Given the description of an element on the screen output the (x, y) to click on. 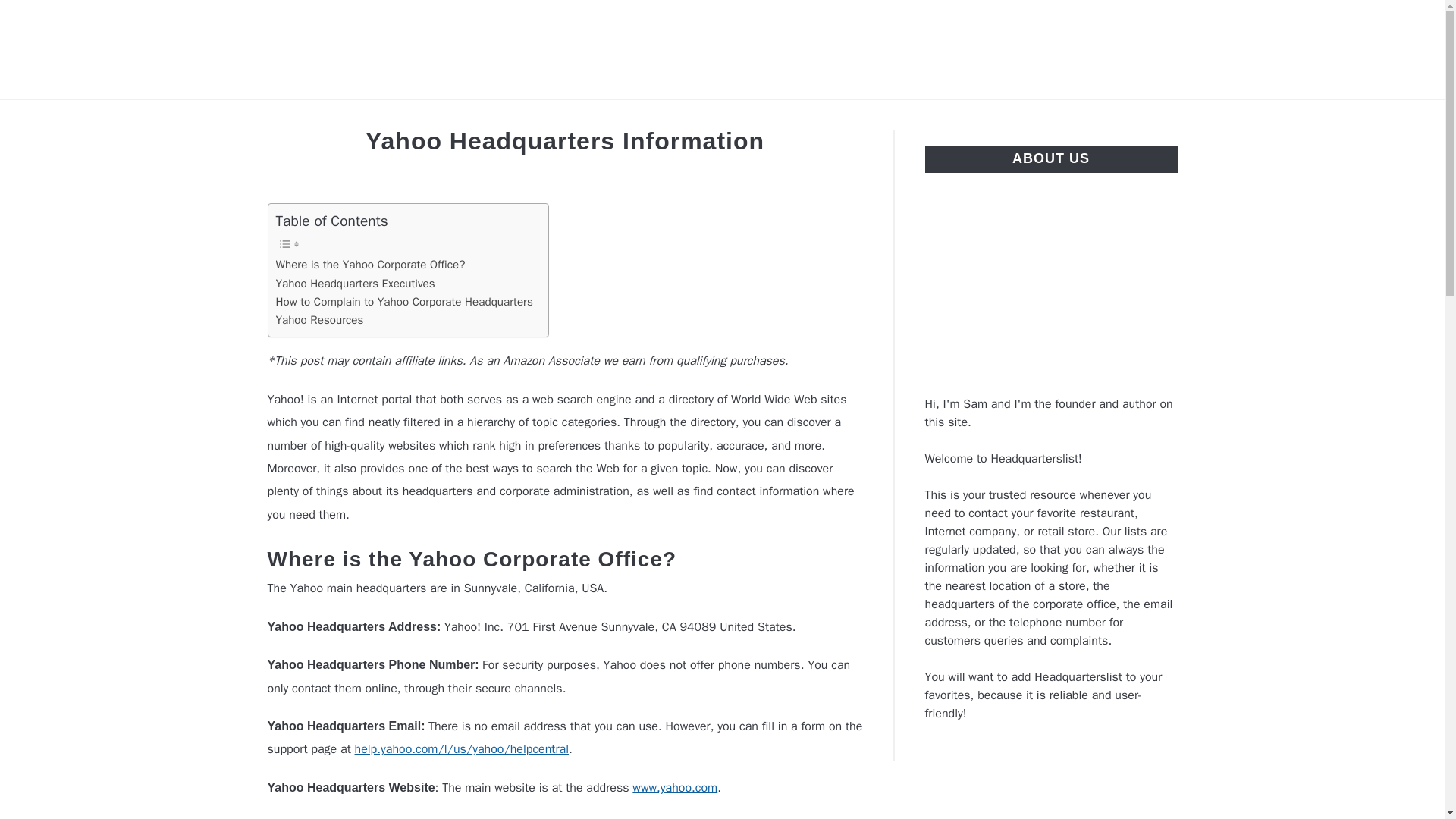
Yahoo Resources (320, 320)
Where is the Yahoo Corporate Office? (370, 264)
Yahoo Headquarters Executives (355, 283)
How to Complain to Yahoo Corporate Headquarters (404, 301)
SERVICES (1029, 117)
Yahoo Headquarters Executives (355, 283)
www.yahoo.com (674, 787)
BANKS (495, 117)
INTERNET (723, 117)
RETAIL (942, 117)
Yahoo Resources (320, 320)
How to Complain to Yahoo Corporate Headquarters (404, 301)
AIRLINES (411, 117)
CORPORATIONS (604, 117)
Search (1203, 49)
